Given the description of an element on the screen output the (x, y) to click on. 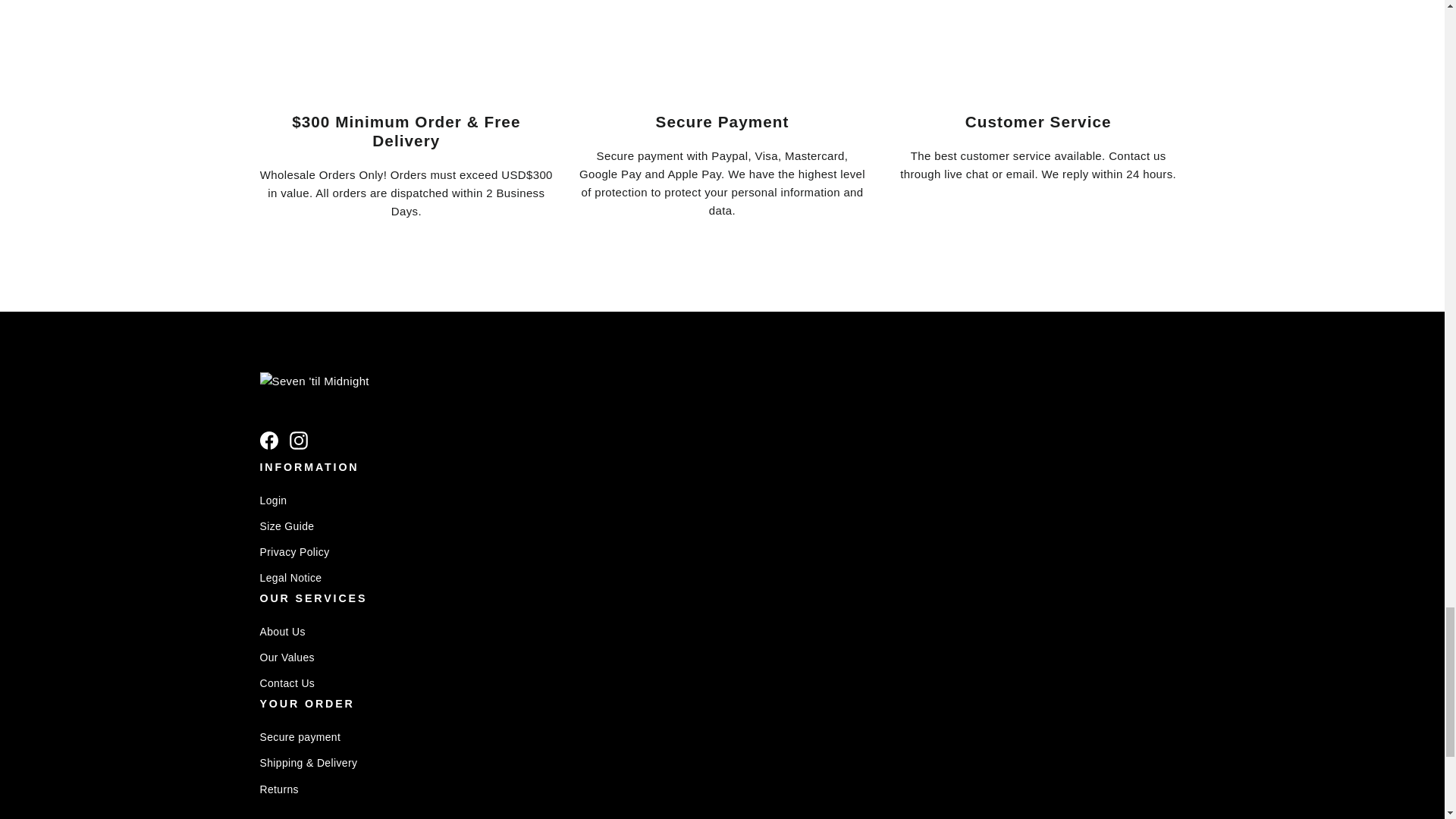
Seven 'til Midnight on Instagram (298, 439)
Seven 'til Midnight on Facebook (268, 439)
